Given the description of an element on the screen output the (x, y) to click on. 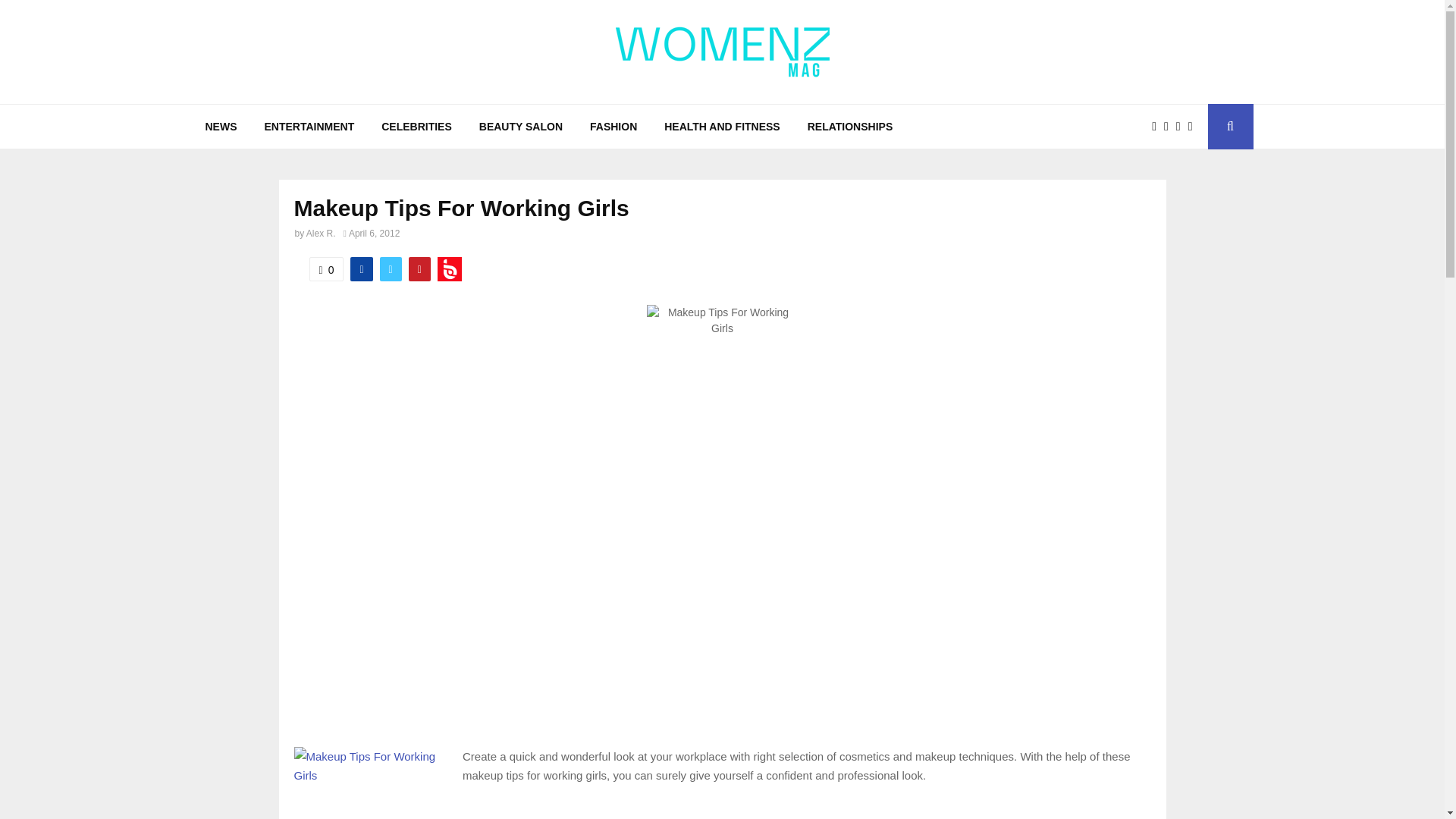
BEAUTY SALON (520, 126)
Like (325, 269)
RELATIONSHIPS (850, 126)
0 (325, 269)
ENTERTAINMENT (309, 126)
FASHION (613, 126)
HEALTH AND FITNESS (721, 126)
CELEBRITIES (416, 126)
NEWS (220, 126)
Makeup Tips For Working Girls (369, 782)
Alex R. (320, 233)
